Given the description of an element on the screen output the (x, y) to click on. 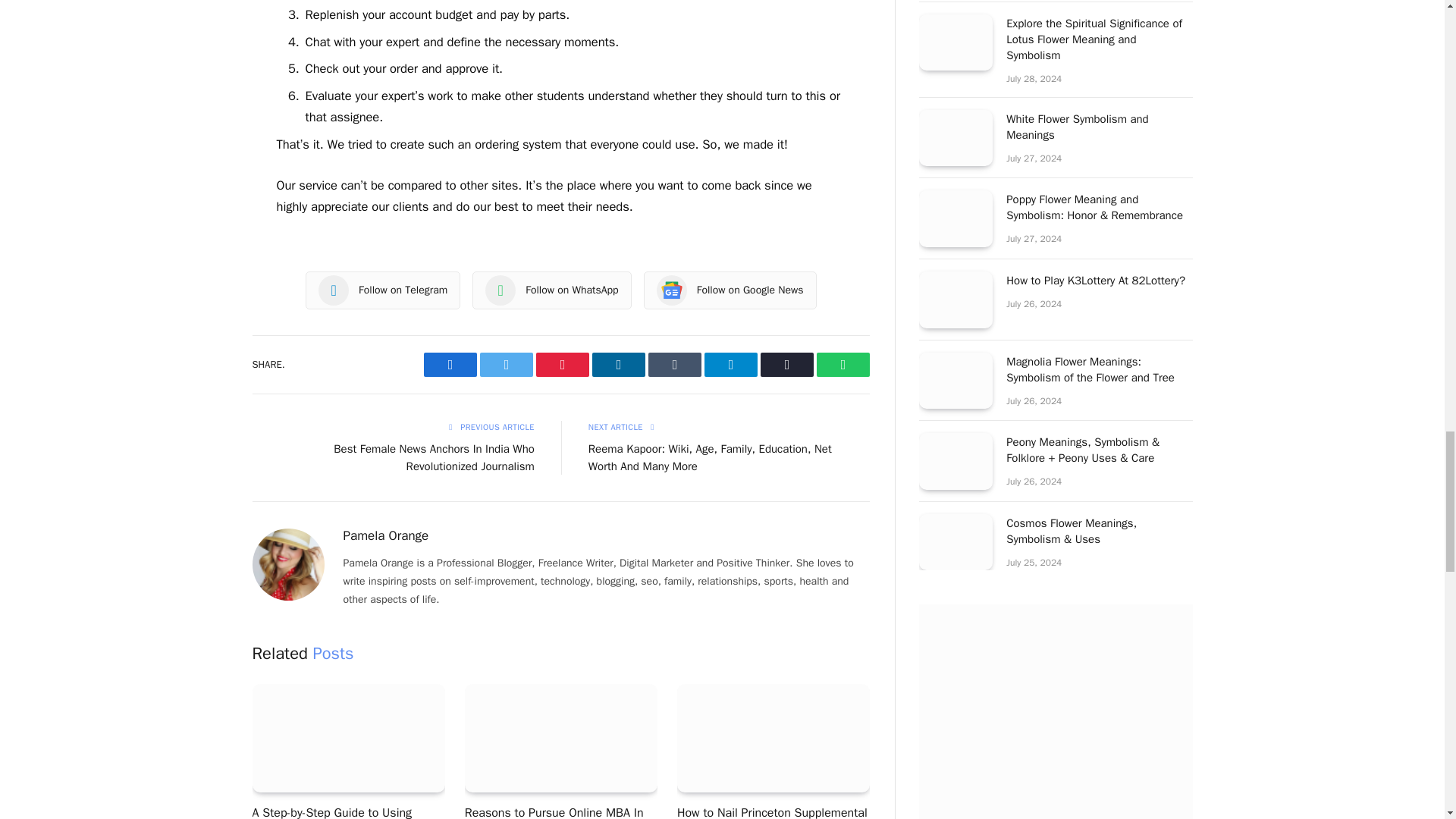
Share on Facebook (450, 364)
